Given the description of an element on the screen output the (x, y) to click on. 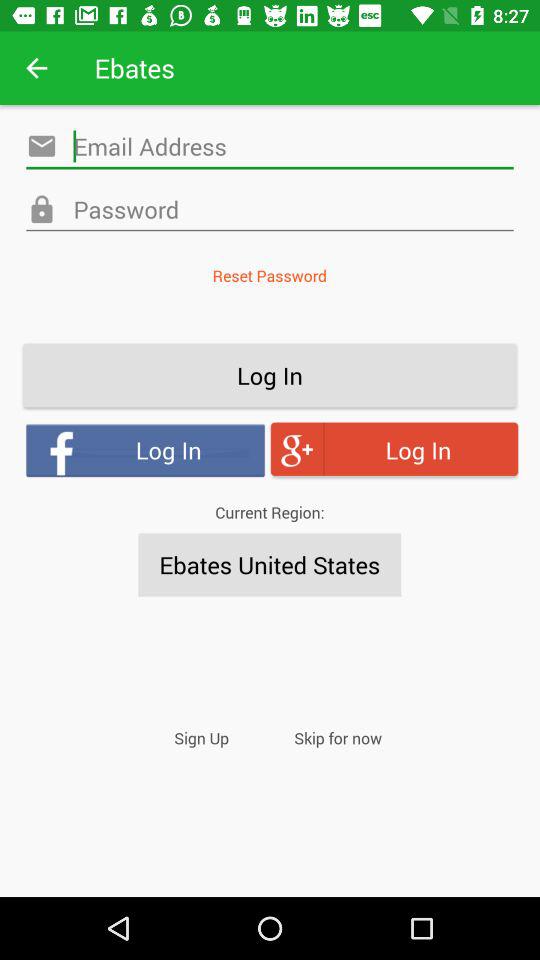
jump until ebates united states item (269, 564)
